Given the description of an element on the screen output the (x, y) to click on. 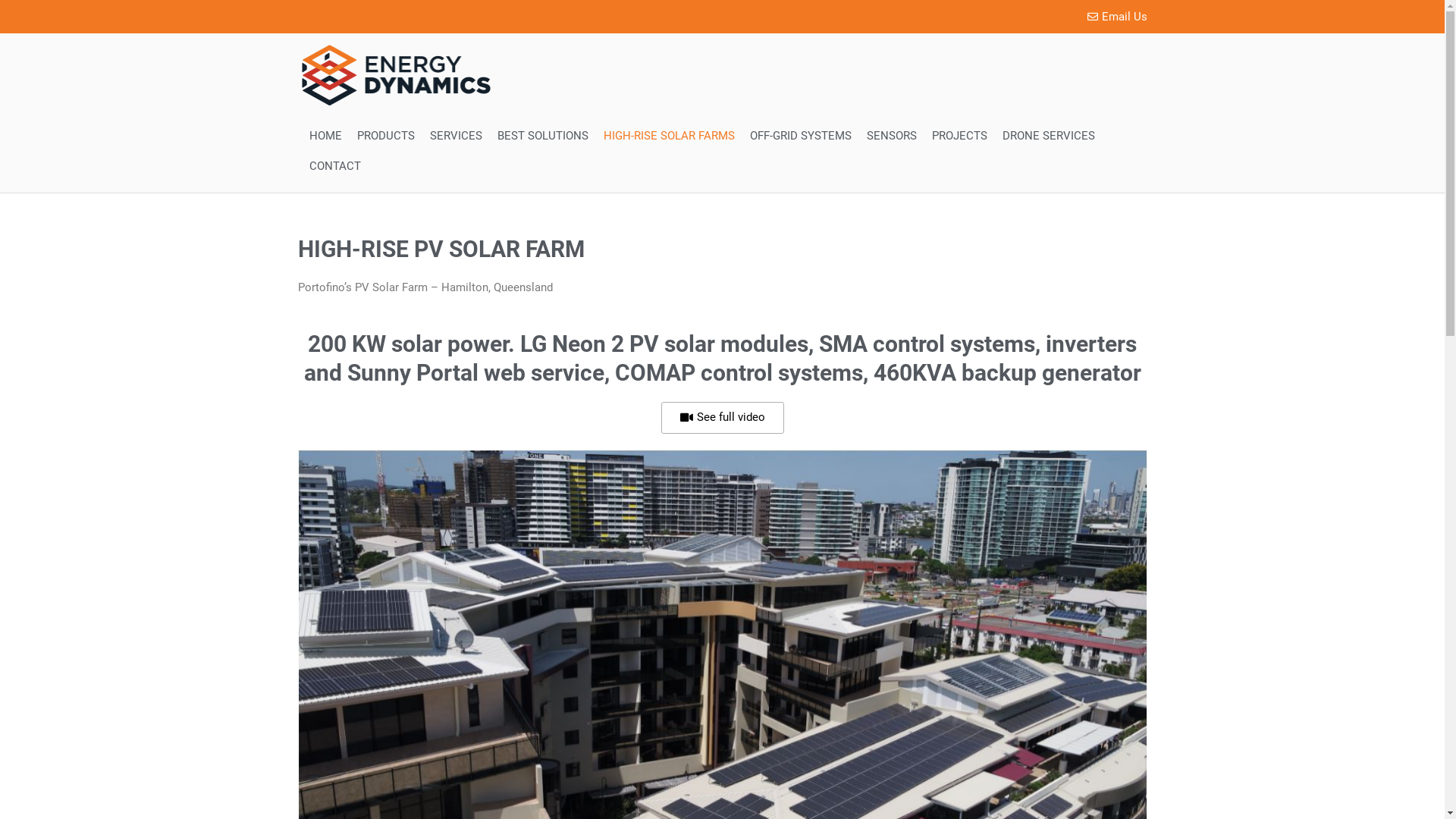
PROJECTS Element type: text (958, 135)
DRONE SERVICES Element type: text (1048, 135)
SENSORS Element type: text (890, 135)
CONTACT Element type: text (334, 165)
HIGH-RISE SOLAR FARMS Element type: text (669, 135)
BEST SOLUTIONS Element type: text (542, 135)
PRODUCTS Element type: text (384, 135)
HOME Element type: text (325, 135)
OFF-GRID SYSTEMS Element type: text (799, 135)
Email Us Element type: text (937, 16)
See full video Element type: text (722, 417)
SERVICES Element type: text (455, 135)
